Given the description of an element on the screen output the (x, y) to click on. 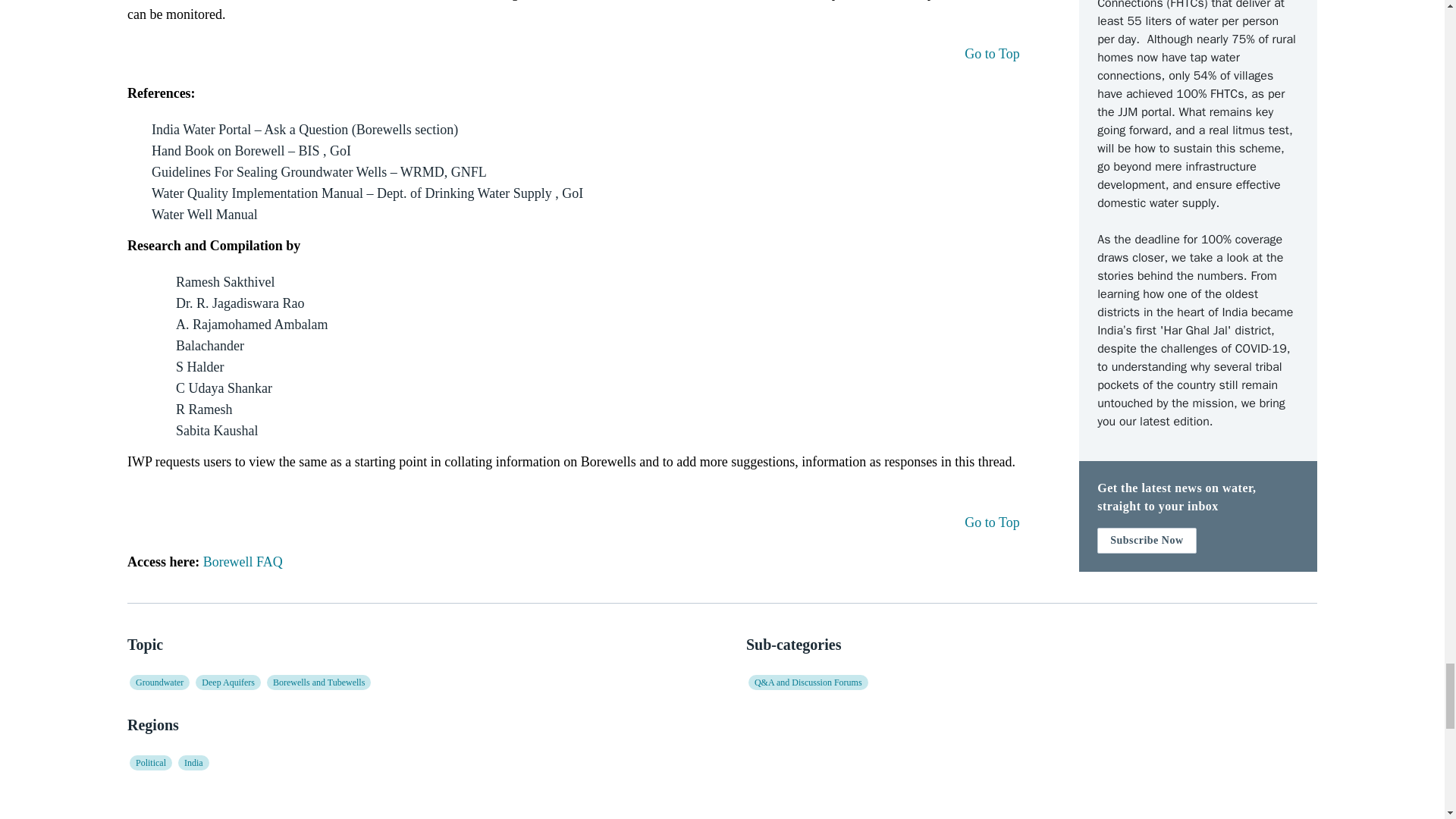
Borewells FAQ (413, 762)
